Given the description of an element on the screen output the (x, y) to click on. 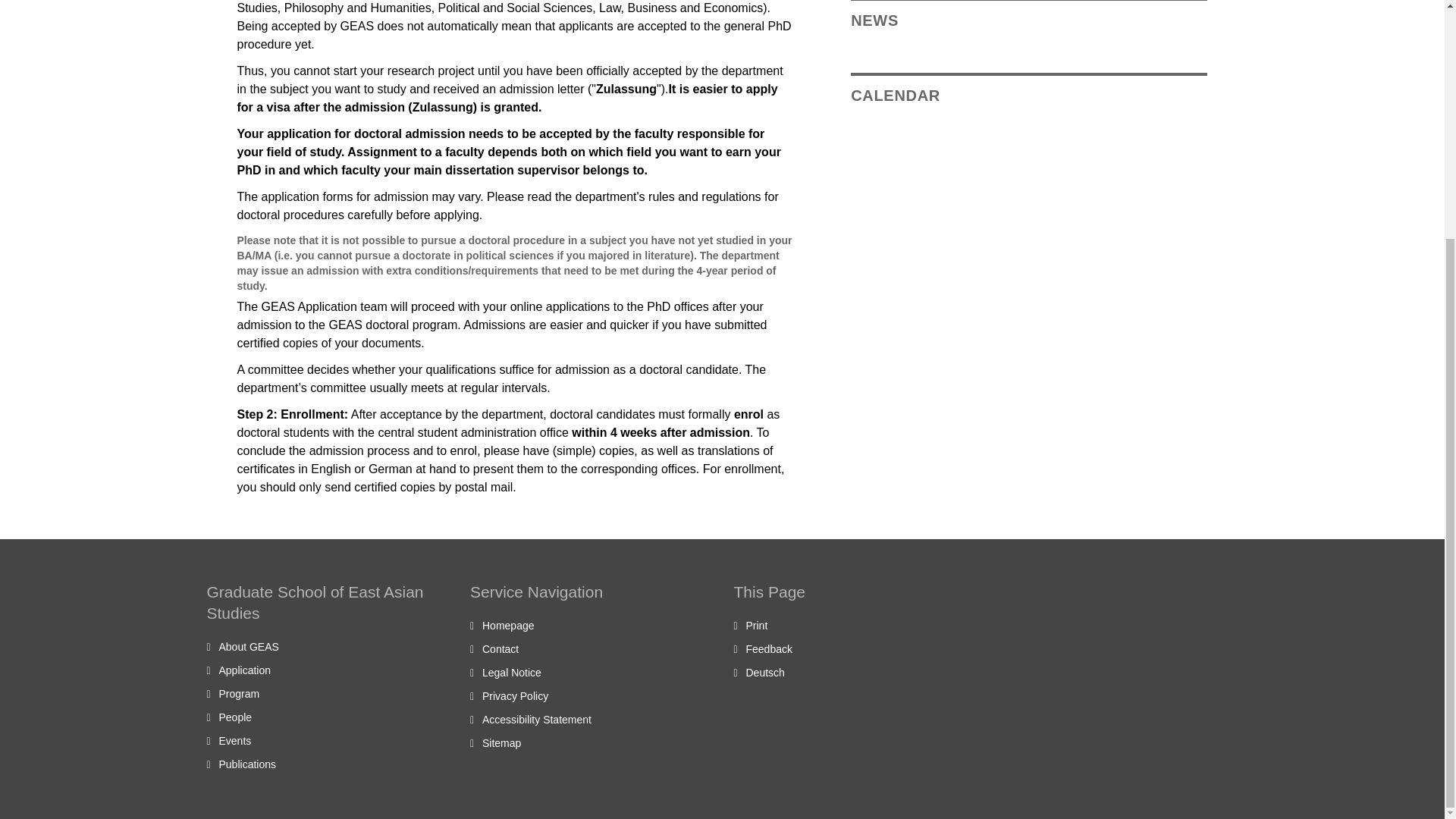
Accessibility Statement (536, 719)
About GEAS (248, 646)
Legal Notice (511, 672)
Application (244, 670)
Privacy Policy (514, 695)
Print (756, 625)
Contact (499, 648)
People (234, 717)
Events (234, 740)
Homepage (507, 625)
